Given the description of an element on the screen output the (x, y) to click on. 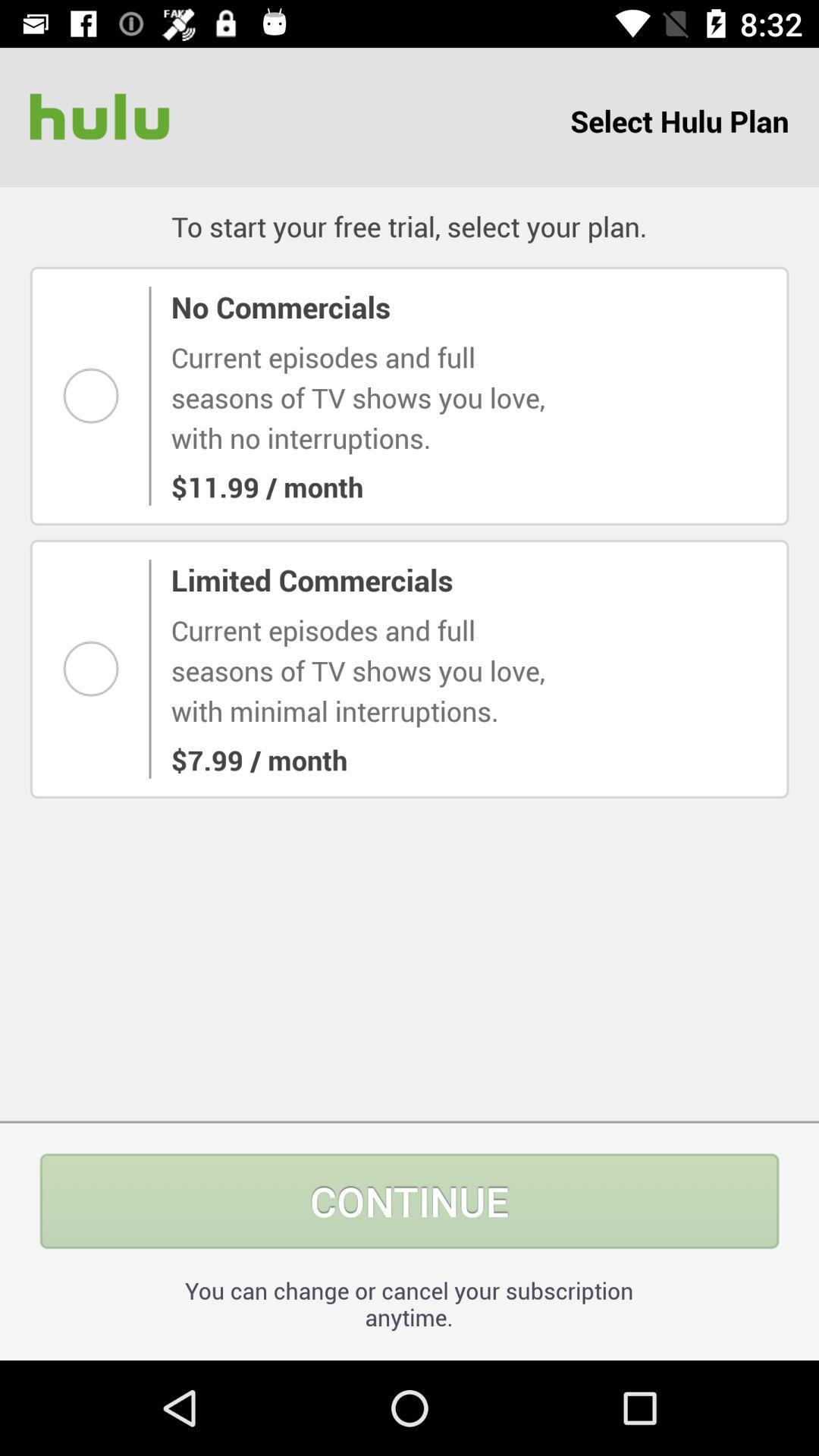
click the item above you can change (409, 1200)
